Given the description of an element on the screen output the (x, y) to click on. 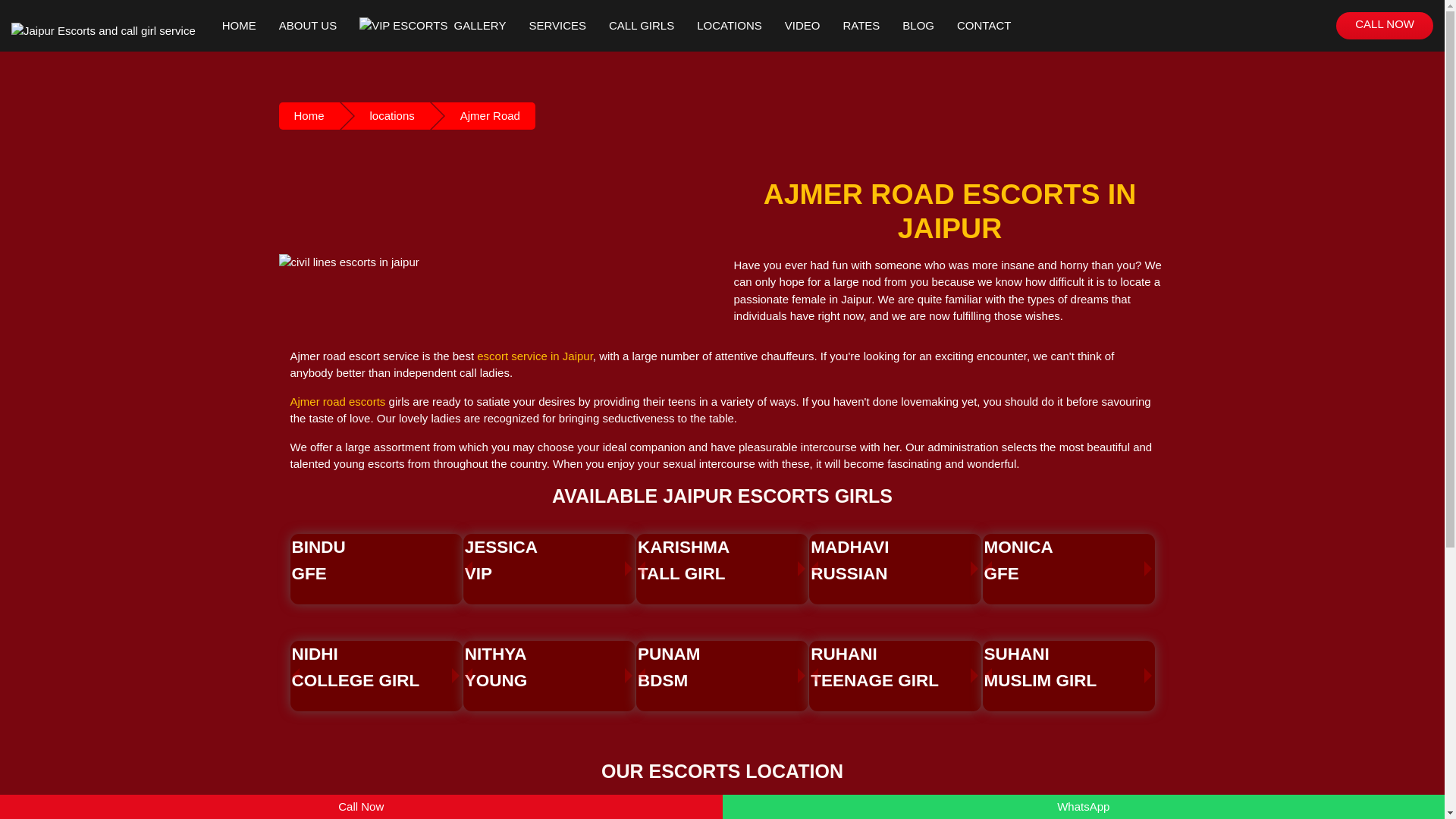
ABOUT US (547, 560)
CALL GIRLS (307, 5)
Home (641, 20)
Ajmer road escorts (374, 667)
CALL NOW (309, 115)
SERVICES (721, 560)
